Given the description of an element on the screen output the (x, y) to click on. 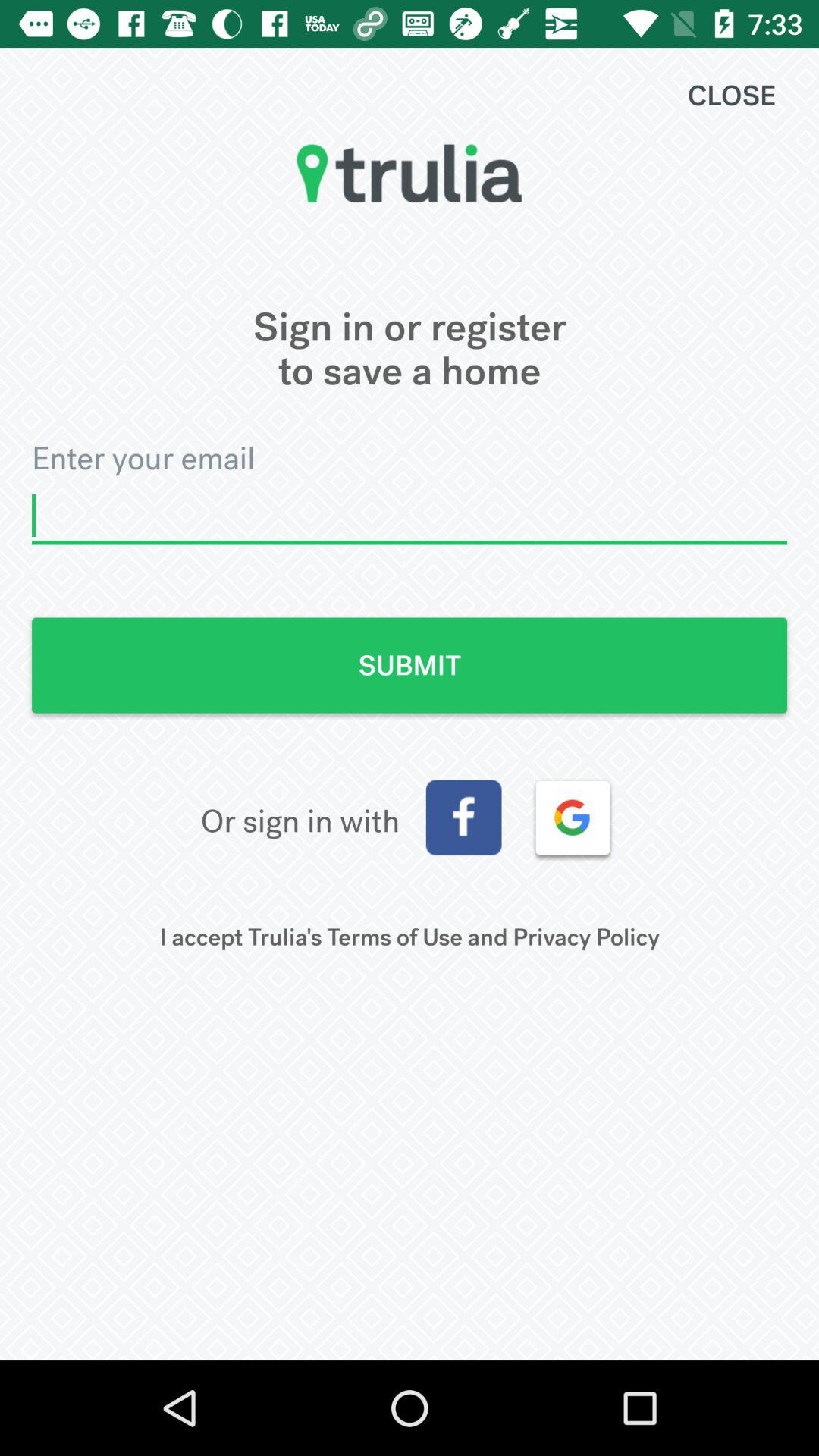
enters email address (409, 516)
